Given the description of an element on the screen output the (x, y) to click on. 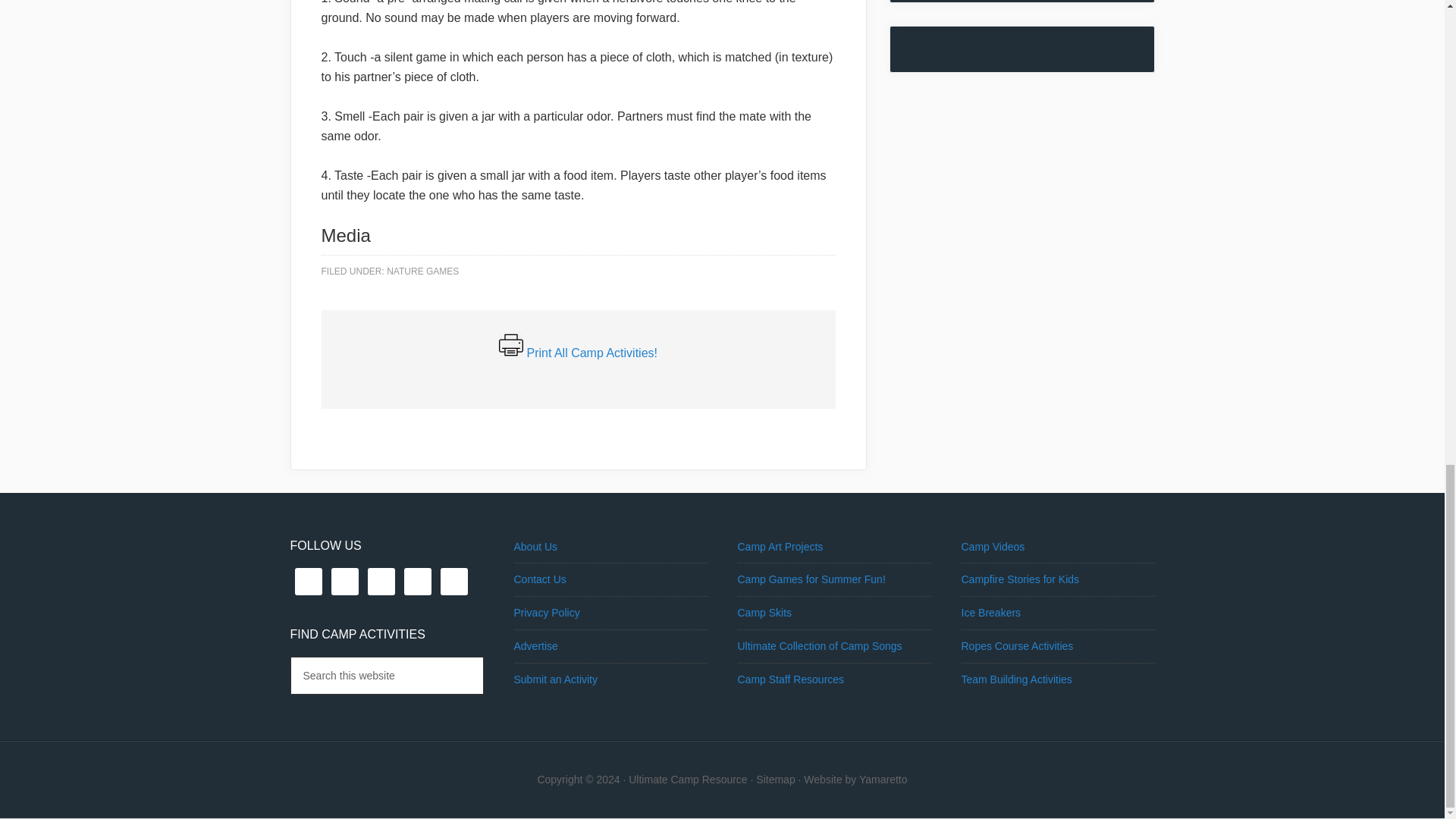
NATURE GAMES (422, 271)
Print All Camp Activities! (591, 352)
